Given the description of an element on the screen output the (x, y) to click on. 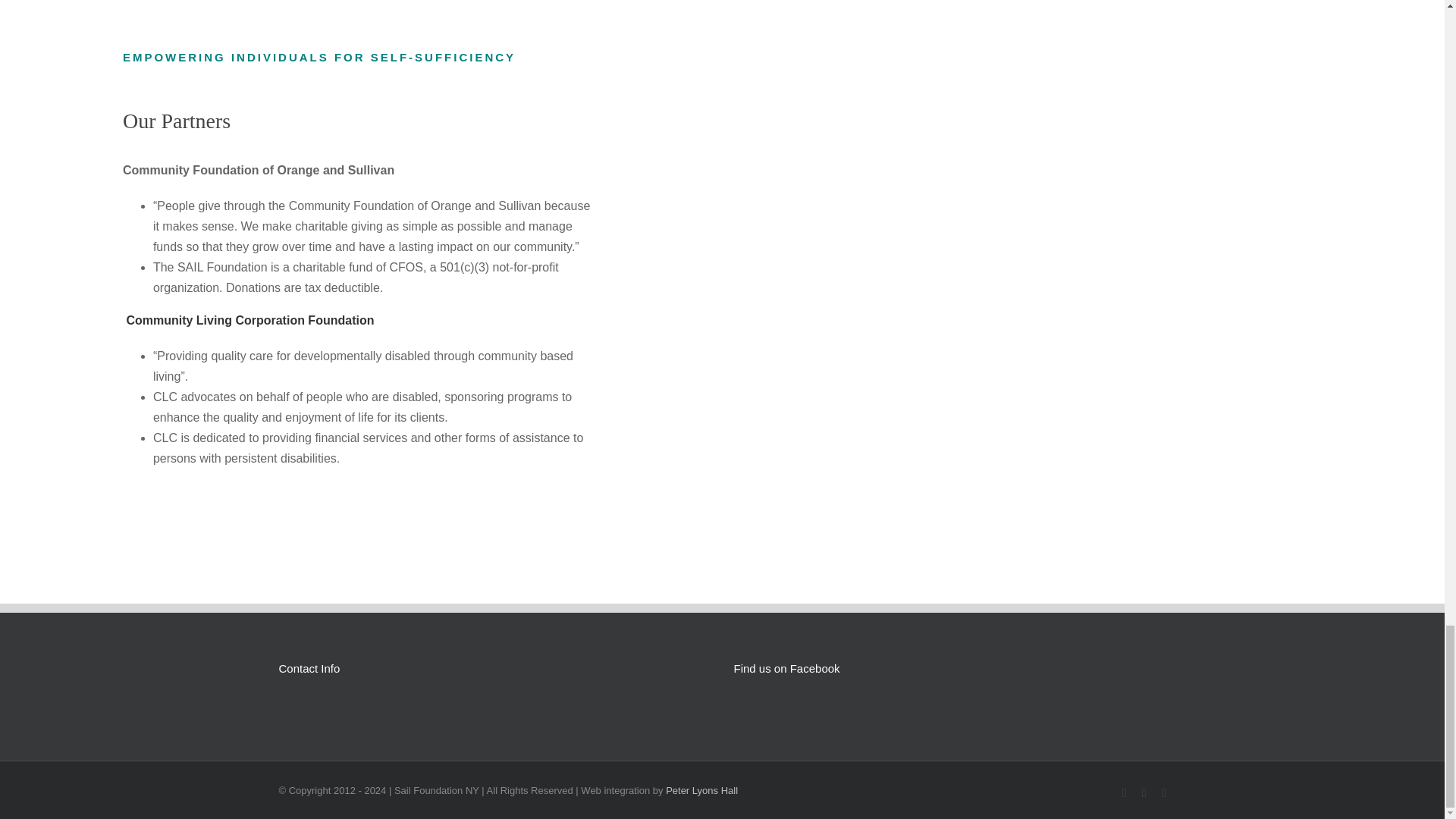
Community Living Corporation Foundation (249, 319)
Peter Lyons Hall (701, 790)
